Given the description of an element on the screen output the (x, y) to click on. 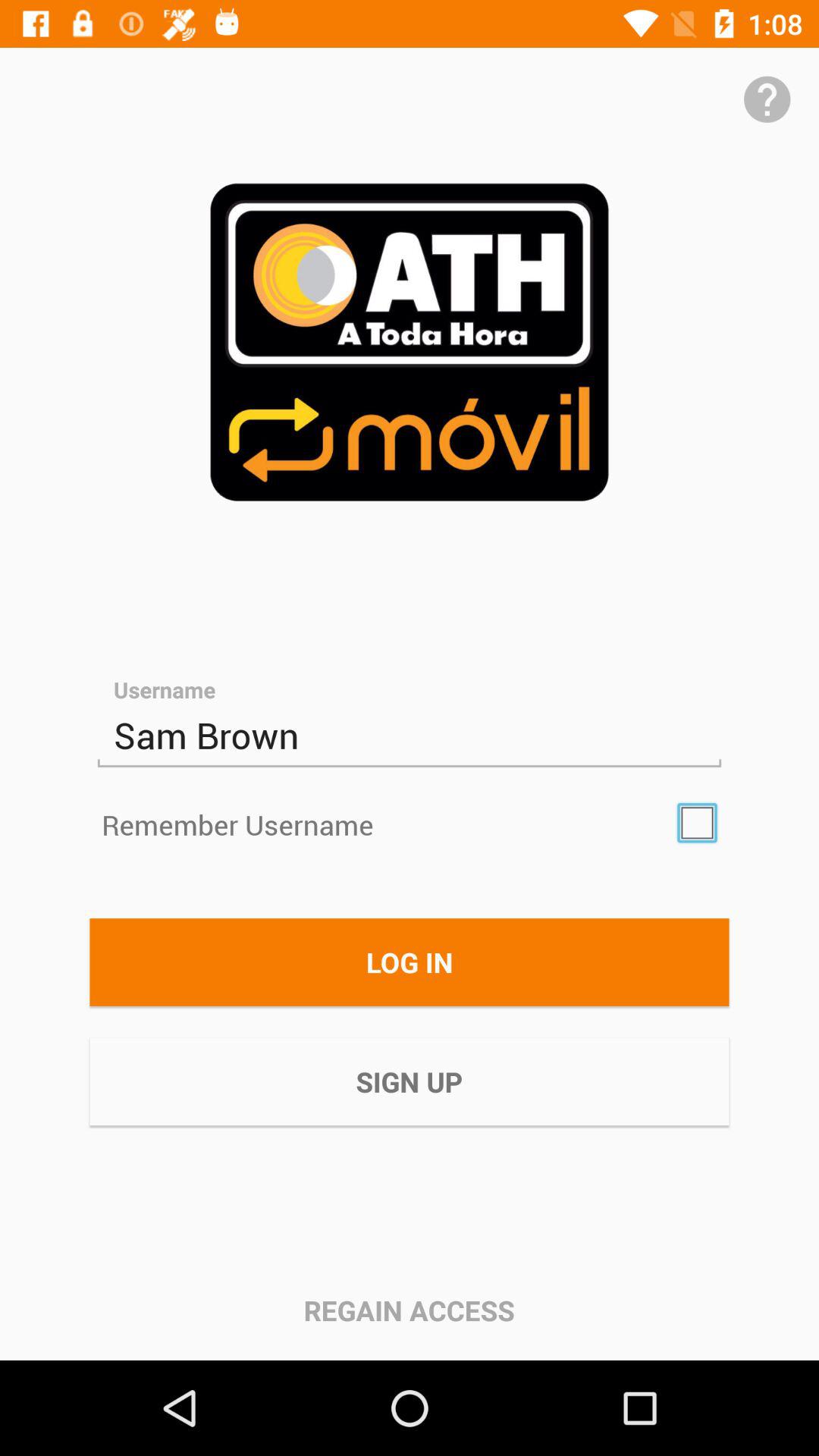
press the item above the regain access icon (409, 1081)
